Given the description of an element on the screen output the (x, y) to click on. 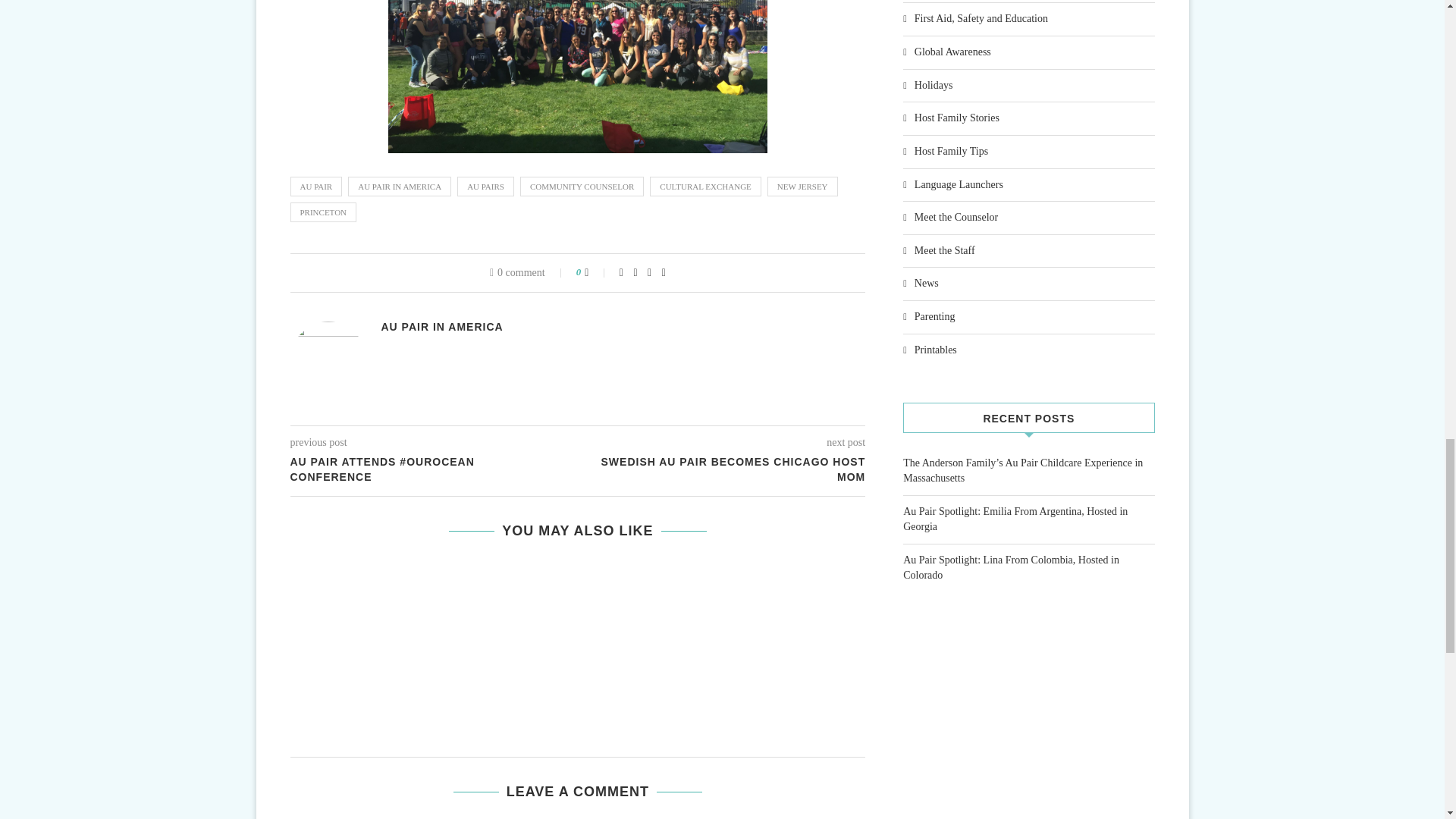
CULTURAL EXCHANGE (705, 186)
NEW JERSEY (802, 186)
AU PAIR (315, 186)
AU PAIR IN AMERICA (399, 186)
Posts by Au Pair in America (441, 326)
COMMUNITY COUNSELOR (581, 186)
AU PAIRS (485, 186)
Like (596, 272)
PRINCETON (322, 211)
